Given the description of an element on the screen output the (x, y) to click on. 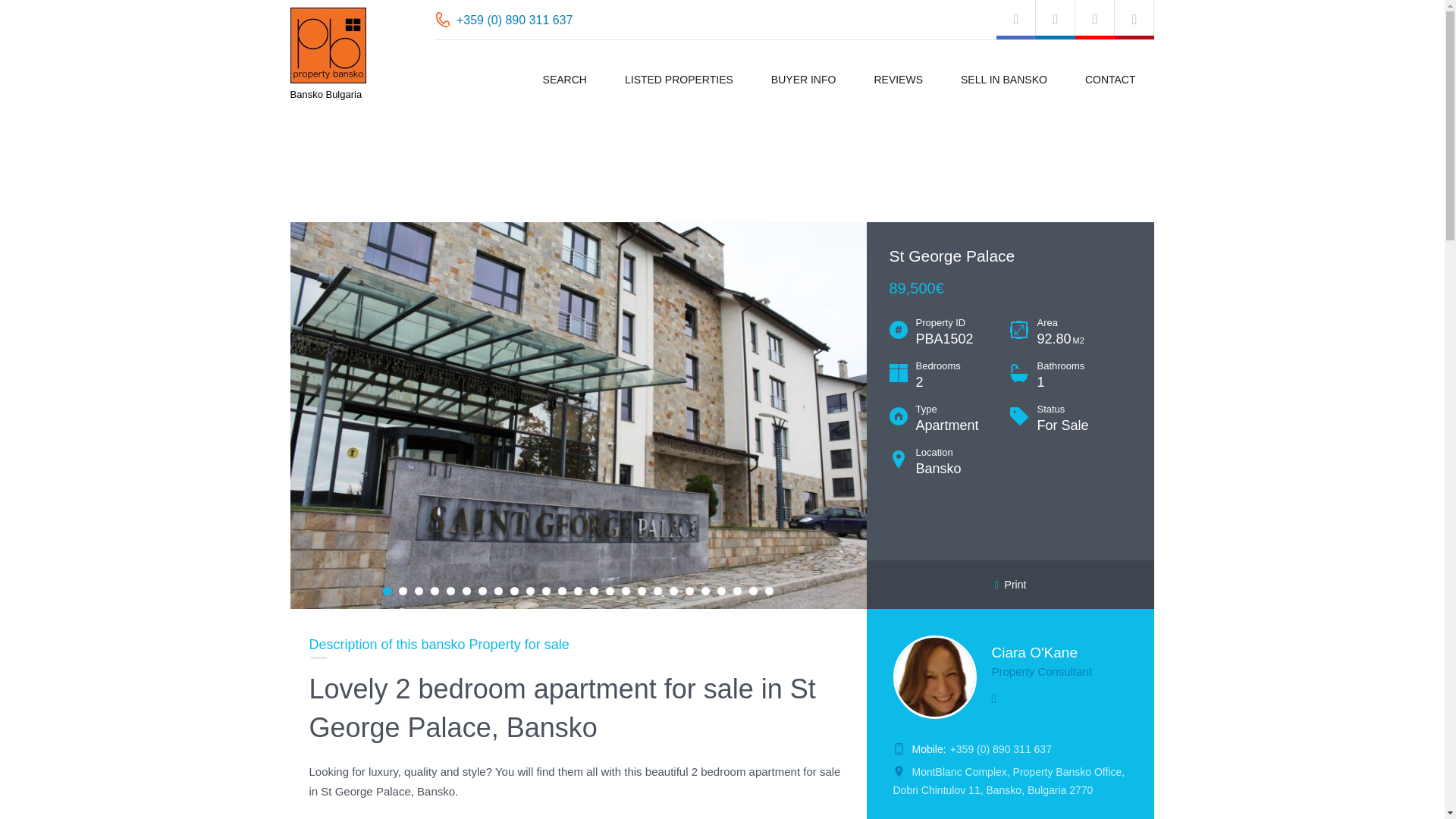
SELL IN BANSKO (1003, 79)
REVIEWS (898, 79)
HOME (303, 144)
CONTACT (1109, 79)
BUYER INFO (804, 79)
SEARCH (564, 79)
LISTED PROPERTIES (678, 79)
APARTMENT (370, 144)
